Given the description of an element on the screen output the (x, y) to click on. 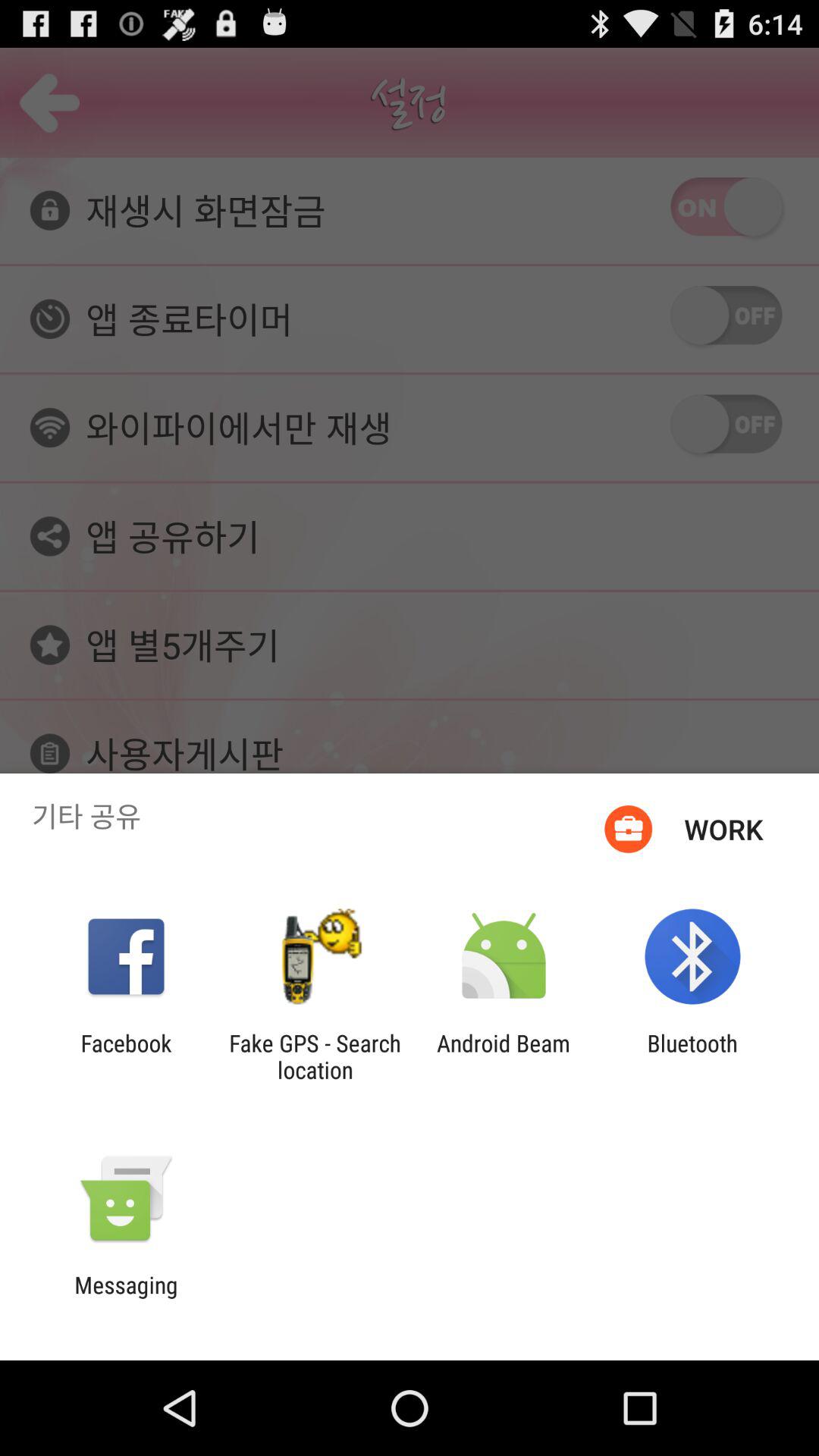
click the icon next to fake gps search app (125, 1056)
